Given the description of an element on the screen output the (x, y) to click on. 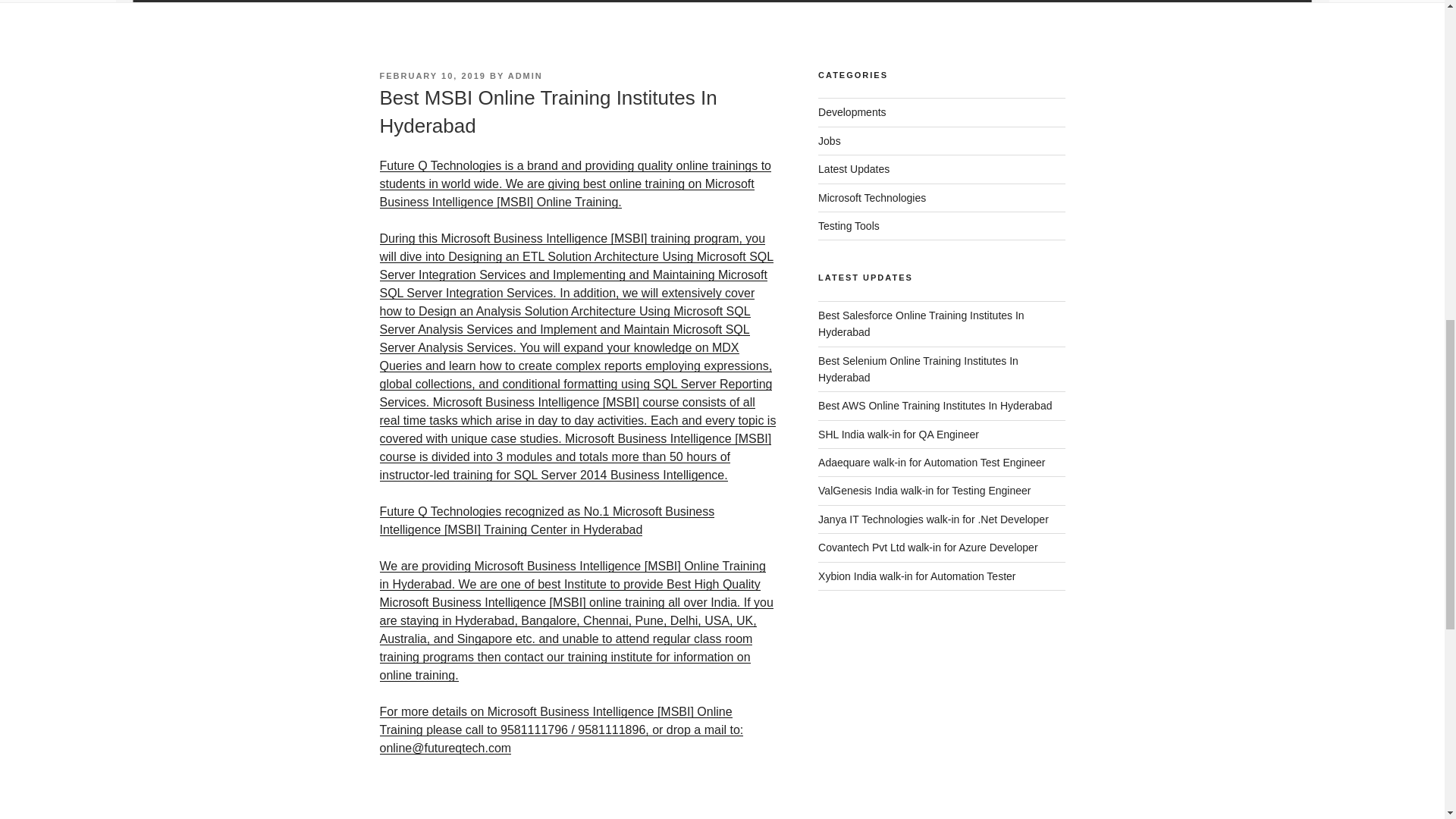
Testing Tools (848, 225)
ValGenesis India walk-in for Testing Engineer (924, 490)
SHL India walk-in for QA Engineer (898, 434)
Janya IT Technologies walk-in for .Net Developer (933, 519)
Covantech Pvt Ltd walk-in for Azure Developer (927, 547)
Best AWS Online Training Institutes In Hyderabad (934, 405)
Best Selenium Online Training Institutes In Hyderabad (917, 369)
Best Salesforce Online Training Institutes In Hyderabad (921, 323)
Xybion India walk-in for Automation Tester (916, 576)
FEBRUARY 10, 2019 (431, 75)
